Given the description of an element on the screen output the (x, y) to click on. 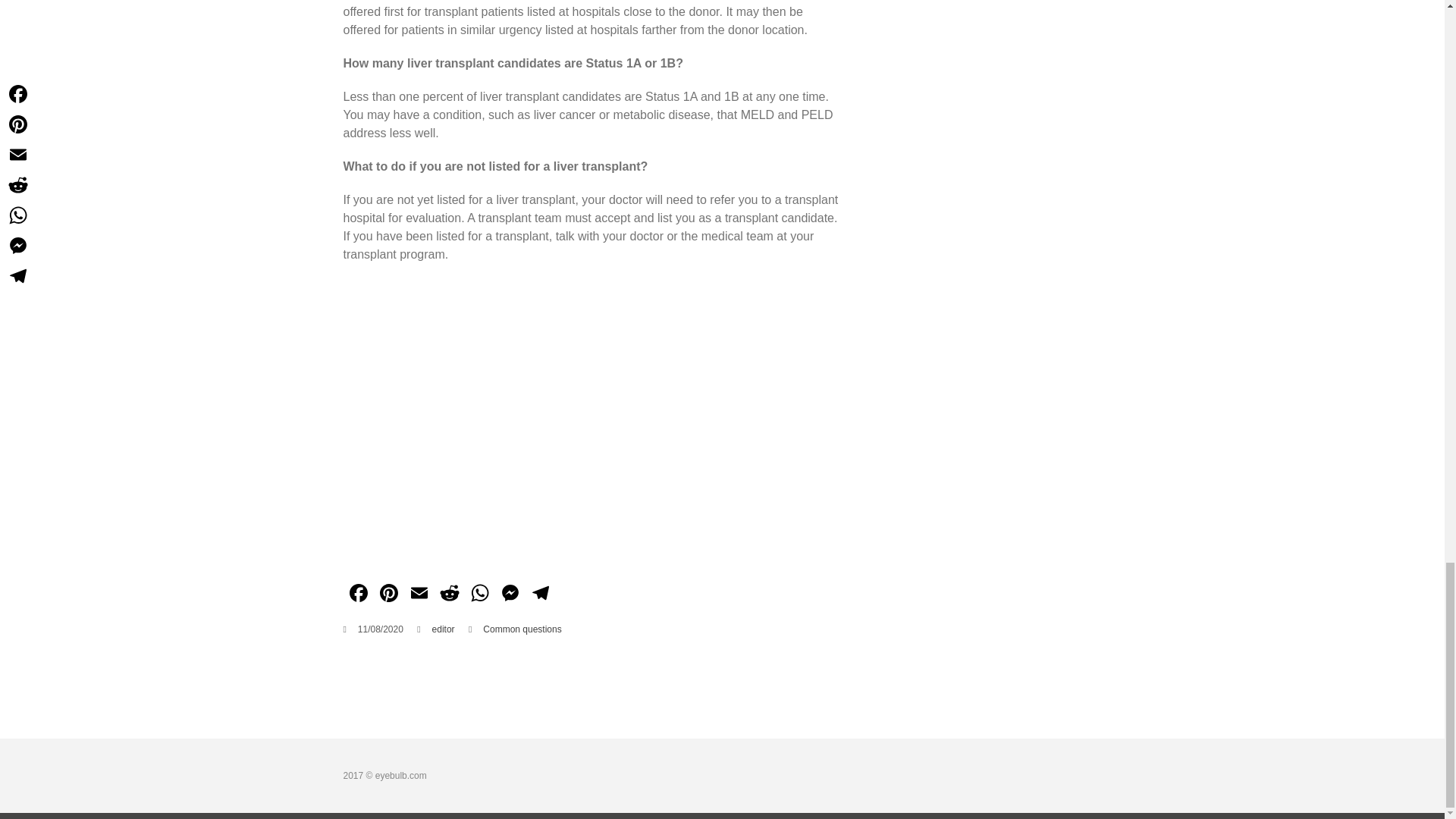
WhatsApp (479, 594)
Telegram (539, 594)
Email (418, 594)
Reddit (448, 594)
Telegram (539, 594)
Reddit (448, 594)
View all posts in Common questions (521, 629)
Email (418, 594)
View all posts by editor (443, 629)
Messenger (509, 594)
WhatsApp (479, 594)
Facebook (357, 594)
editor (443, 629)
Facebook (357, 594)
Messenger (509, 594)
